Given the description of an element on the screen output the (x, y) to click on. 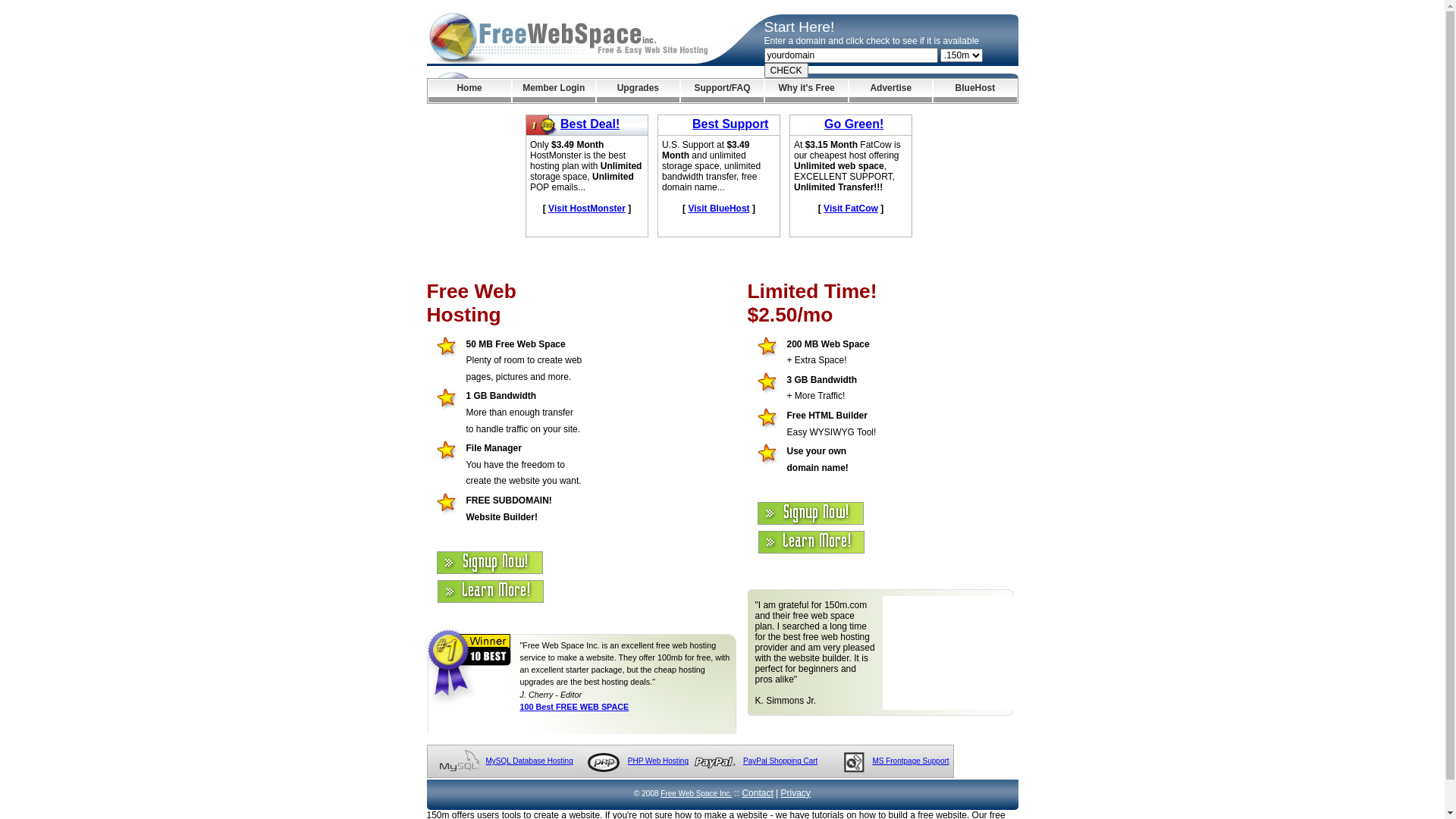
PayPal Shopping Cart Element type: text (780, 760)
PHP Web Hosting Element type: text (657, 760)
100 Best FREE WEB SPACE Element type: text (574, 706)
CHECK Element type: text (786, 70)
Upgrades Element type: text (637, 90)
Free Web Space Inc. Element type: text (695, 793)
Contact Element type: text (756, 792)
Member Login Element type: text (553, 90)
Home Element type: text (468, 90)
MySQL Database Hosting Element type: text (528, 760)
BlueHost Element type: text (974, 90)
Support/FAQ Element type: text (721, 90)
Advertise Element type: text (890, 90)
Privacy Element type: text (795, 792)
MS Frontpage Support Element type: text (910, 760)
Why it's Free Element type: text (806, 90)
